Given the description of an element on the screen output the (x, y) to click on. 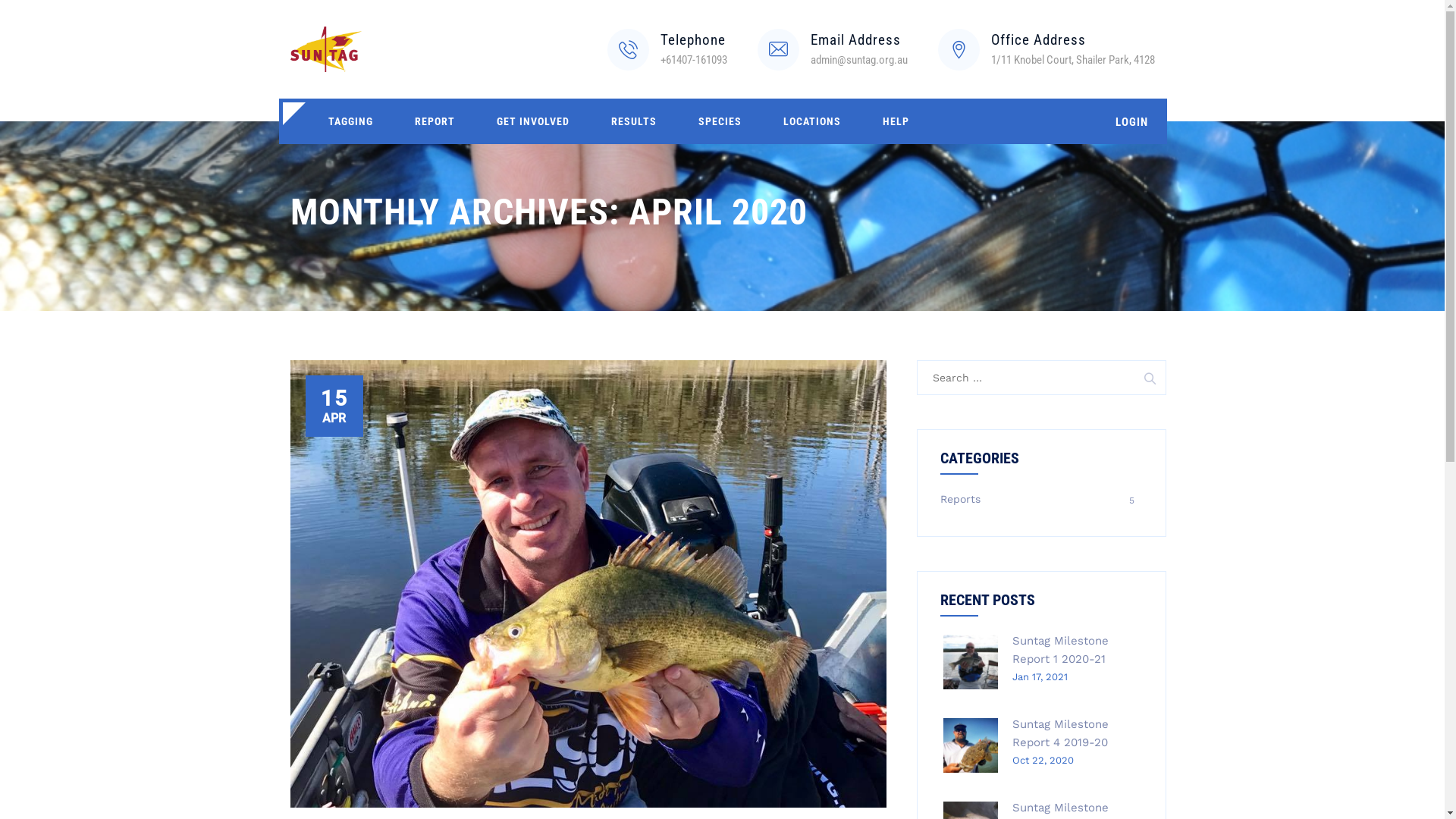
Suntag Milestone Report 4 2019-20 Element type: text (1060, 733)
Search Element type: text (1148, 377)
HELP Element type: text (894, 121)
LOCATIONS Element type: text (811, 121)
SPECIES Element type: text (719, 121)
Suntag Element type: hover (325, 49)
Reports Element type: text (960, 498)
LOGIN Element type: text (1131, 121)
Suntag Milestone Report 1 2020-21 Element type: text (1060, 649)
REPORT Element type: text (434, 121)
RESULTS Element type: text (632, 121)
GET INVOLVED Element type: text (532, 121)
TAGGING Element type: text (350, 121)
